Given the description of an element on the screen output the (x, y) to click on. 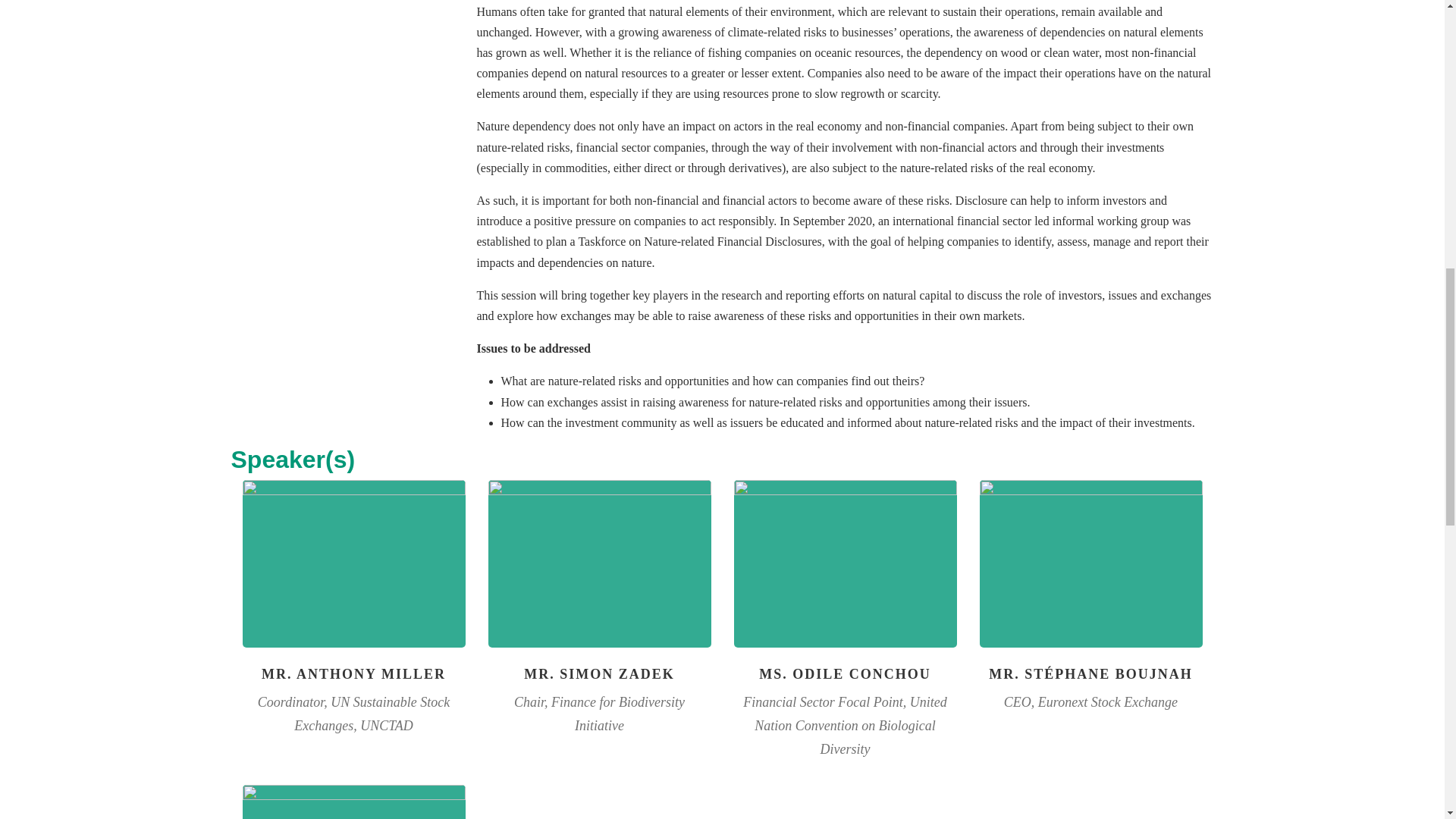
MR. SIMON ZADEK (599, 673)
MS. ODILE CONCHOU (844, 673)
MR. ANTHONY MILLER (353, 673)
